Given the description of an element on the screen output the (x, y) to click on. 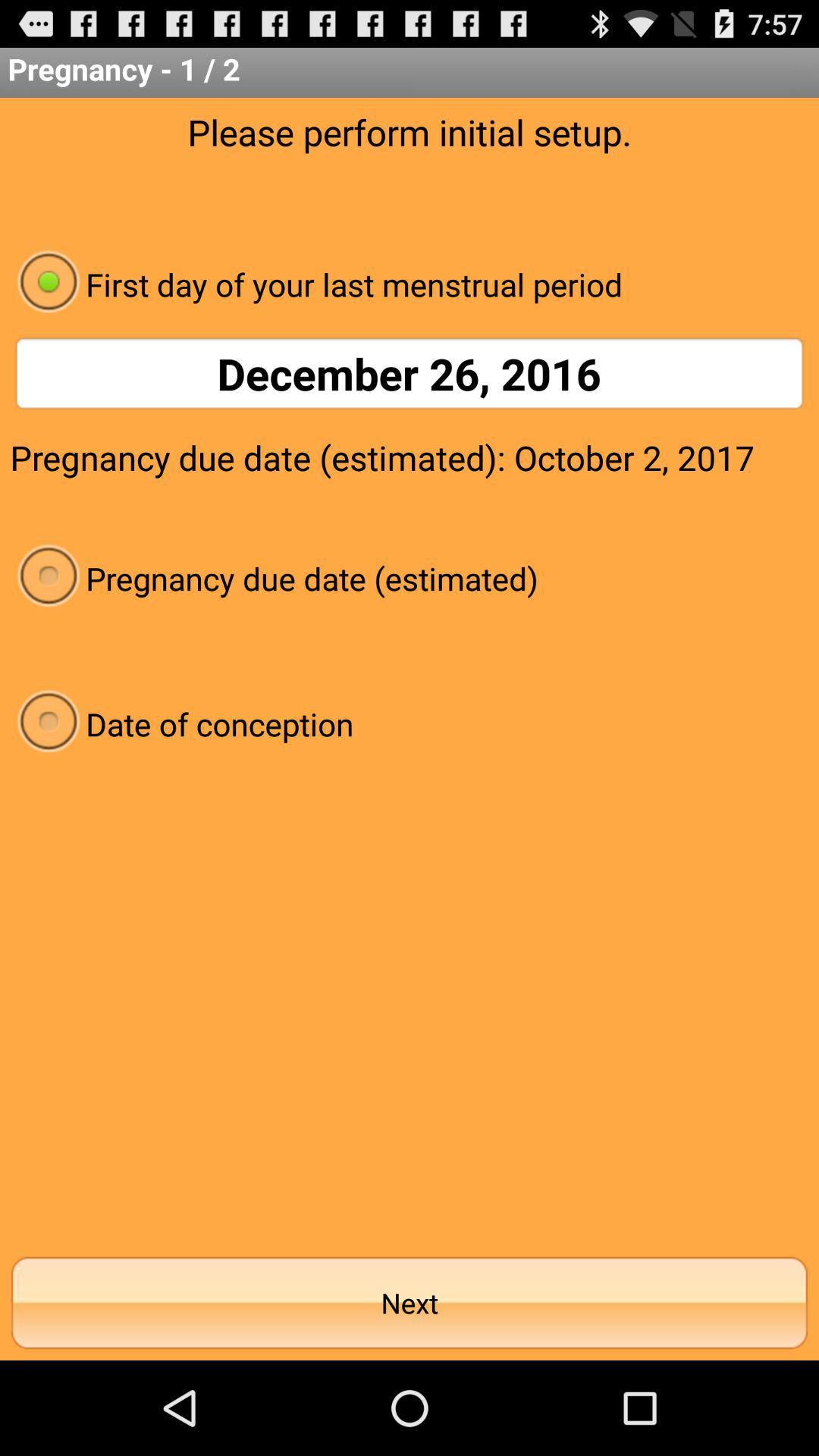
open the app above december 26, 2016 item (409, 284)
